Given the description of an element on the screen output the (x, y) to click on. 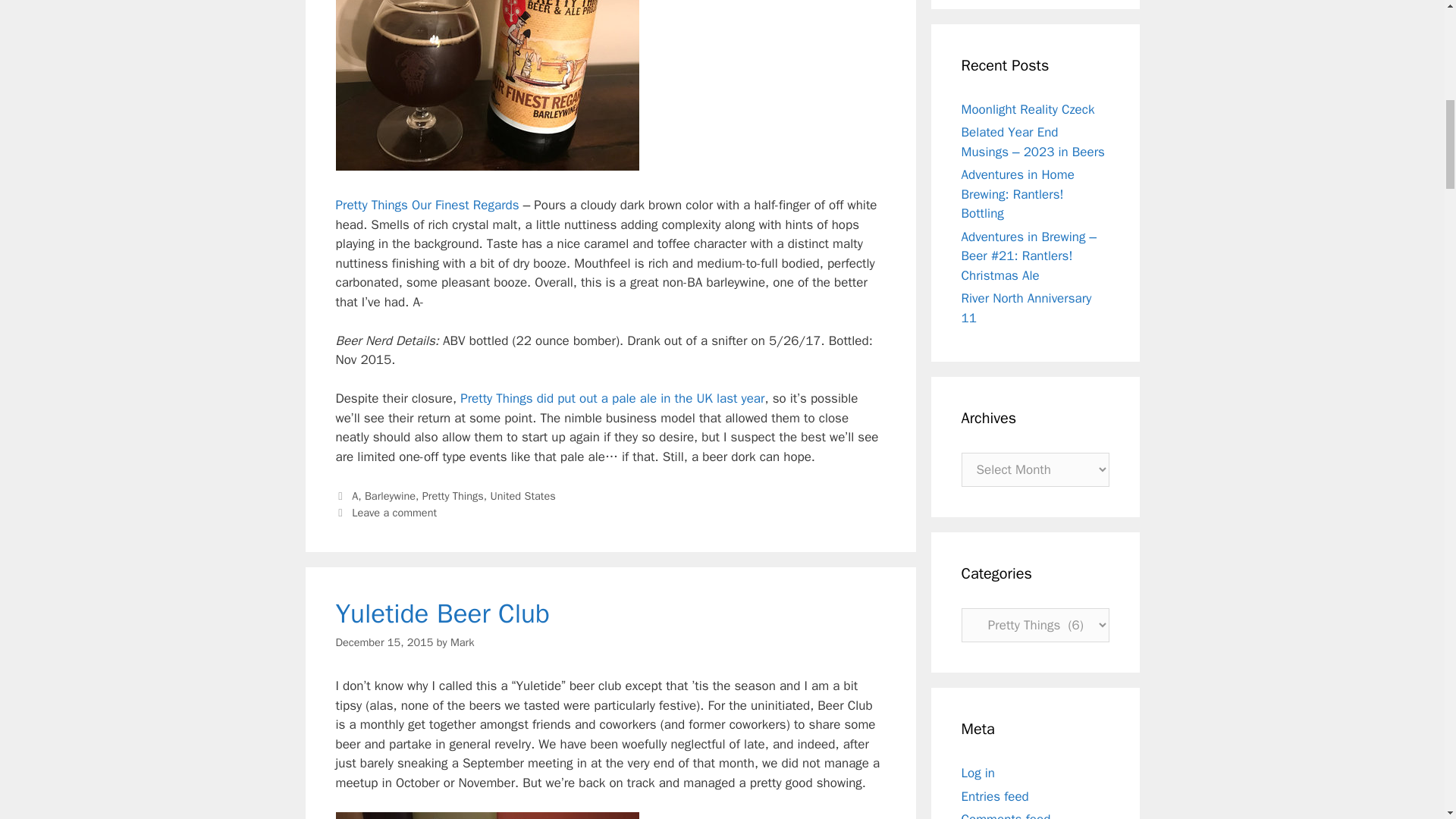
Barleywine (389, 495)
Leave a comment (394, 512)
Mark (461, 642)
Yuletide Beer Club (441, 613)
Pretty Things Our Finest Regards (426, 204)
View all posts by Mark (461, 642)
Pretty Things did put out a pale ale in the UK last year (612, 398)
Pretty Things (452, 495)
United States (521, 495)
